Given the description of an element on the screen output the (x, y) to click on. 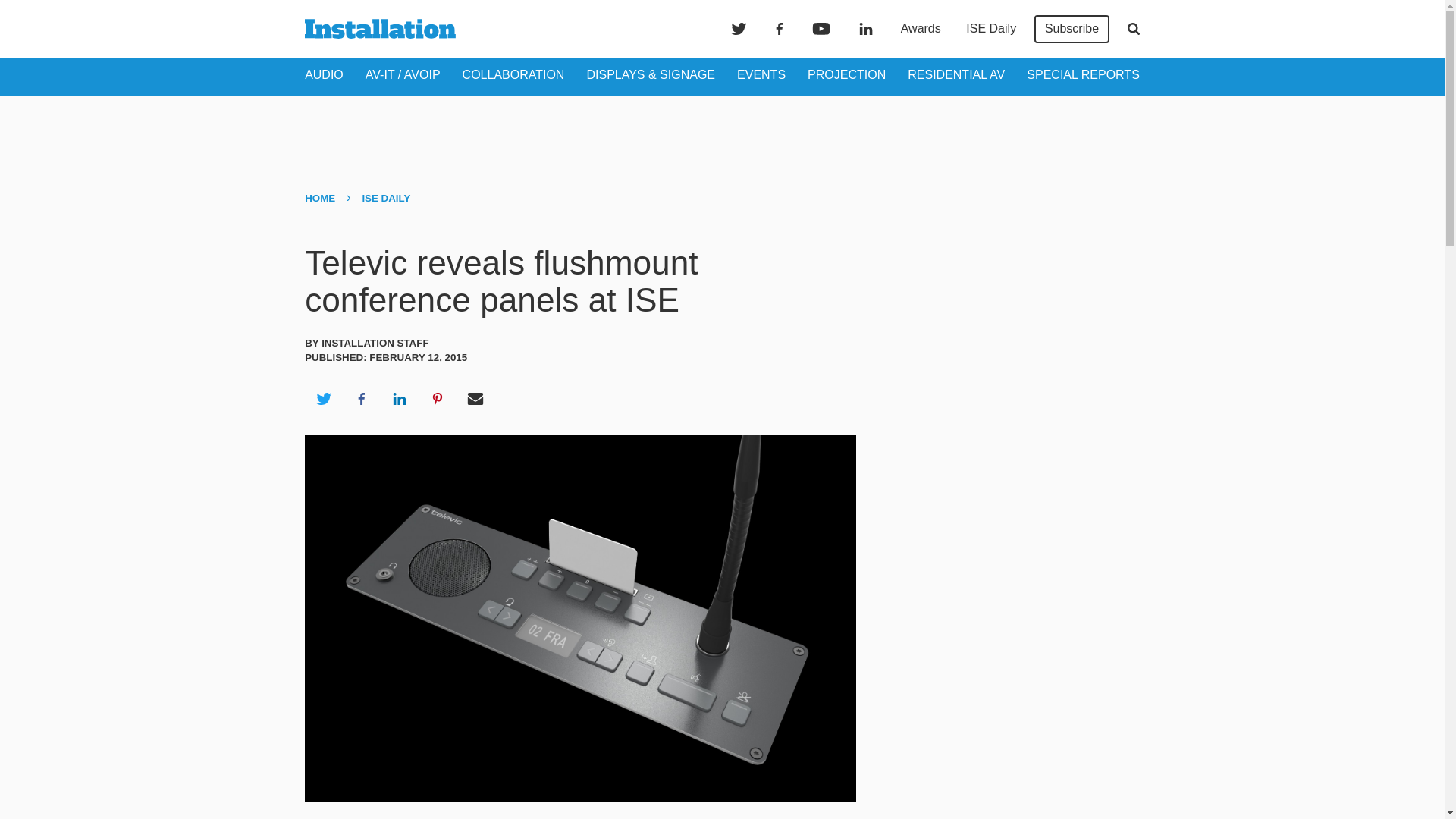
AUDIO (323, 74)
Share on LinkedIn (399, 398)
COLLABORATION (513, 74)
Share on Pinterest (438, 398)
Share on Twitter (323, 398)
Installation Staff's Author Profile (374, 342)
Awards (921, 29)
ISE Daily (990, 29)
Subscribe (1071, 29)
Share on Facebook (361, 398)
